Given the description of an element on the screen output the (x, y) to click on. 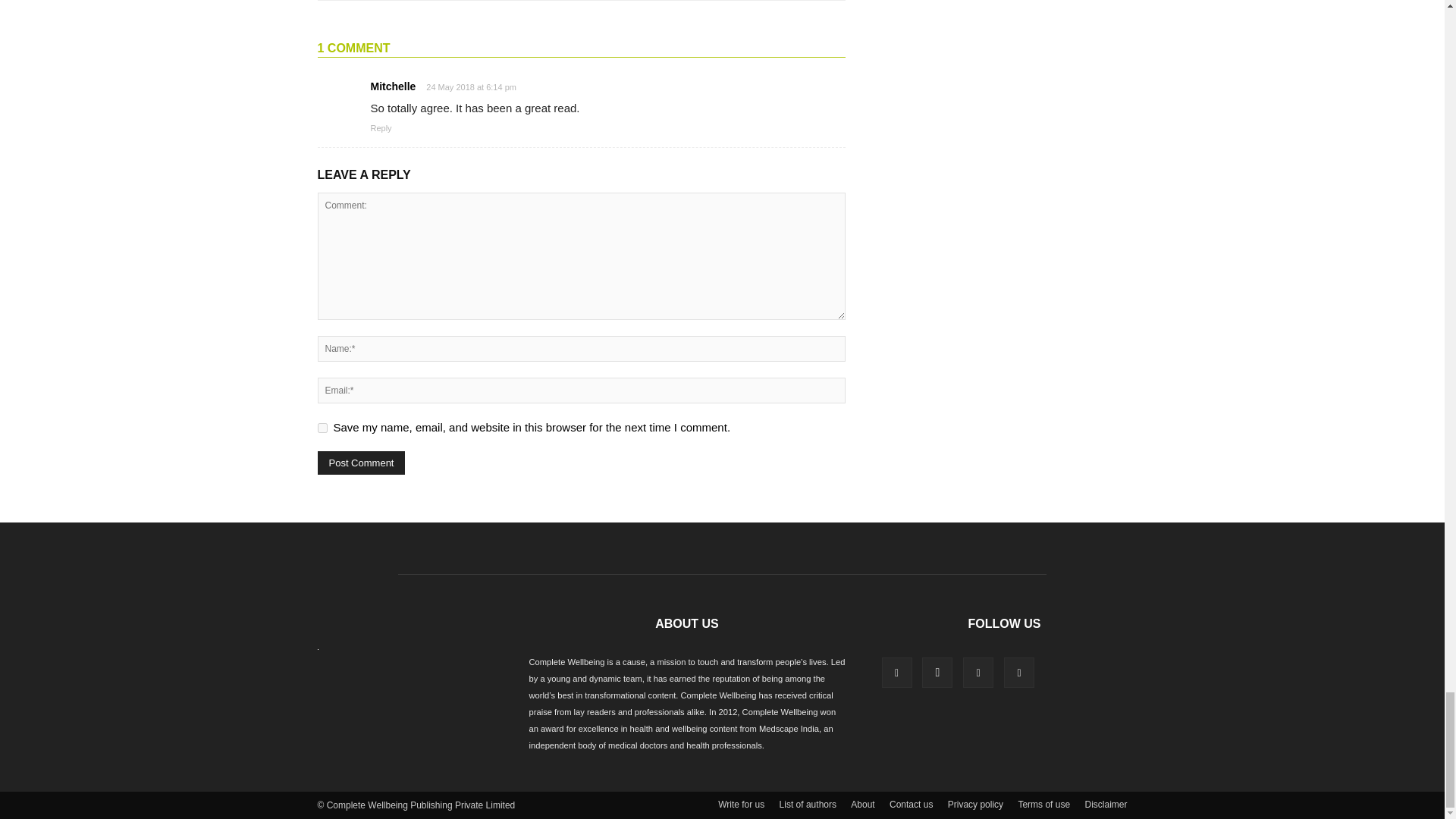
Post Comment (360, 463)
yes (321, 428)
